Given the description of an element on the screen output the (x, y) to click on. 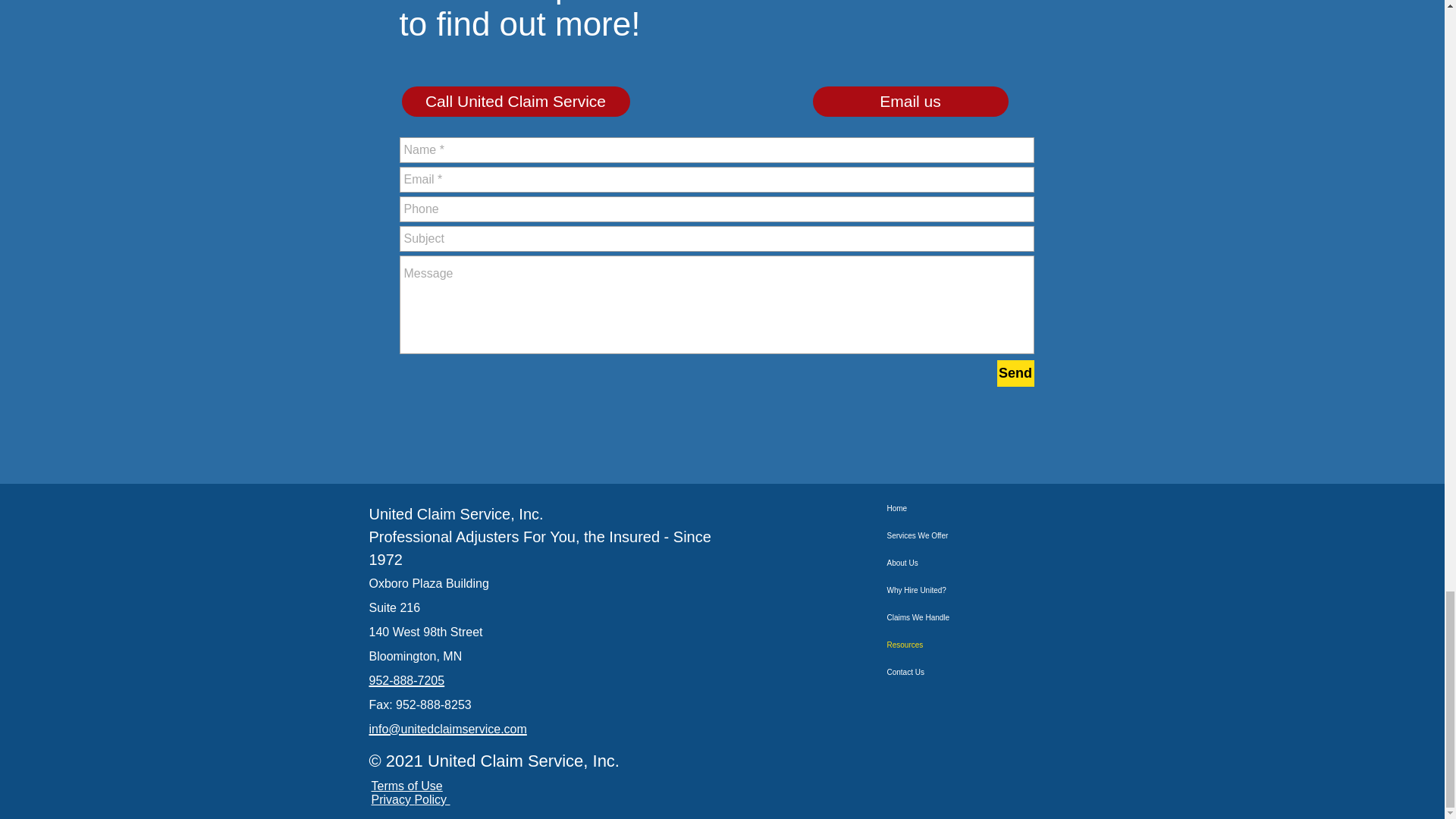
Terms of Use (406, 785)
About Us (978, 563)
Claims We Handle (978, 617)
Privacy Policy  (410, 799)
952-888-7205 (406, 678)
Services We Offer (978, 535)
Home (978, 508)
Send (1014, 373)
Contact Us (978, 672)
Resources (978, 645)
Why Hire United? (978, 590)
Call United Claim Service (515, 101)
Email us (910, 101)
